Given the description of an element on the screen output the (x, y) to click on. 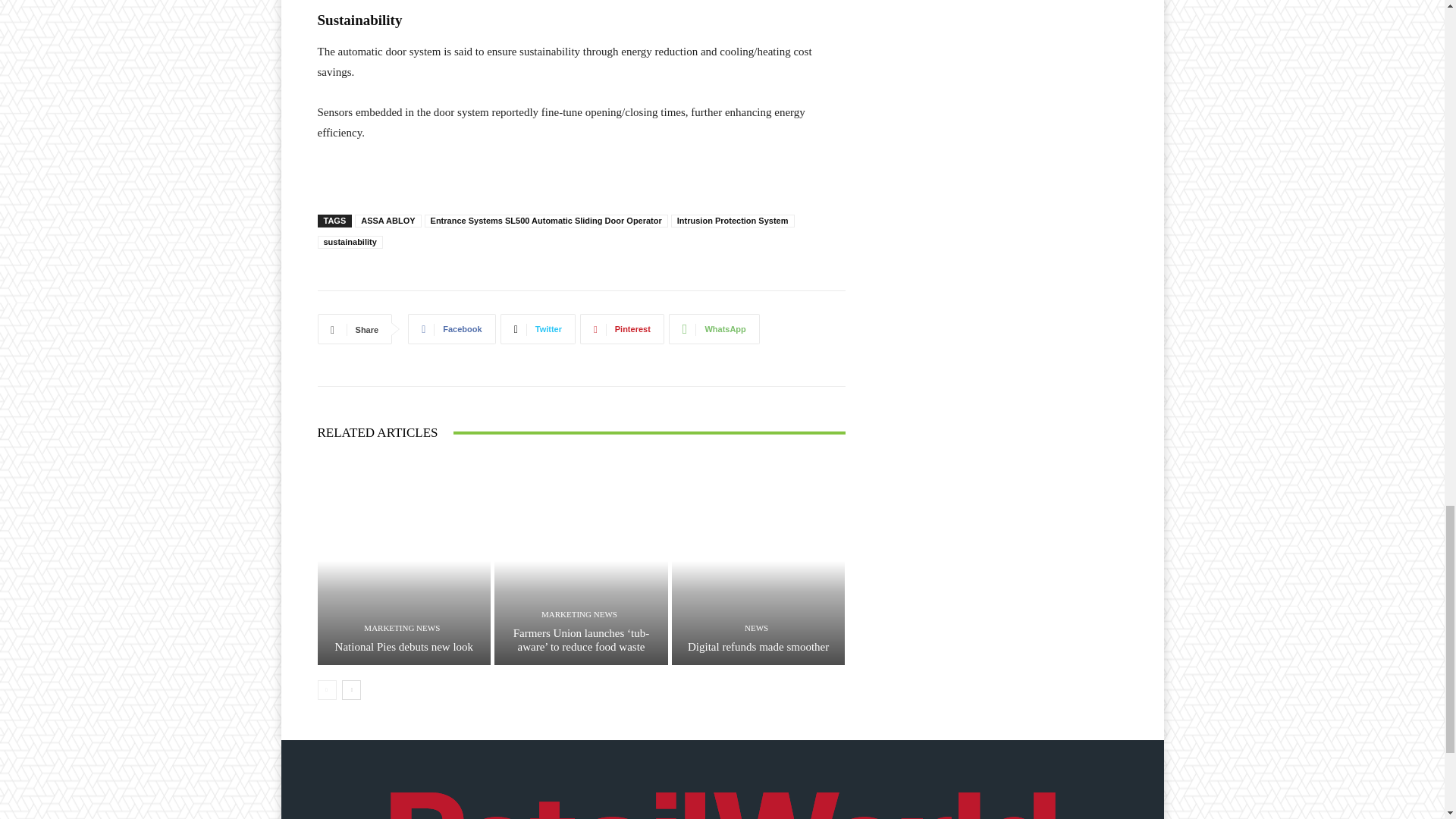
Facebook (451, 328)
Twitter (537, 328)
